Given the description of an element on the screen output the (x, y) to click on. 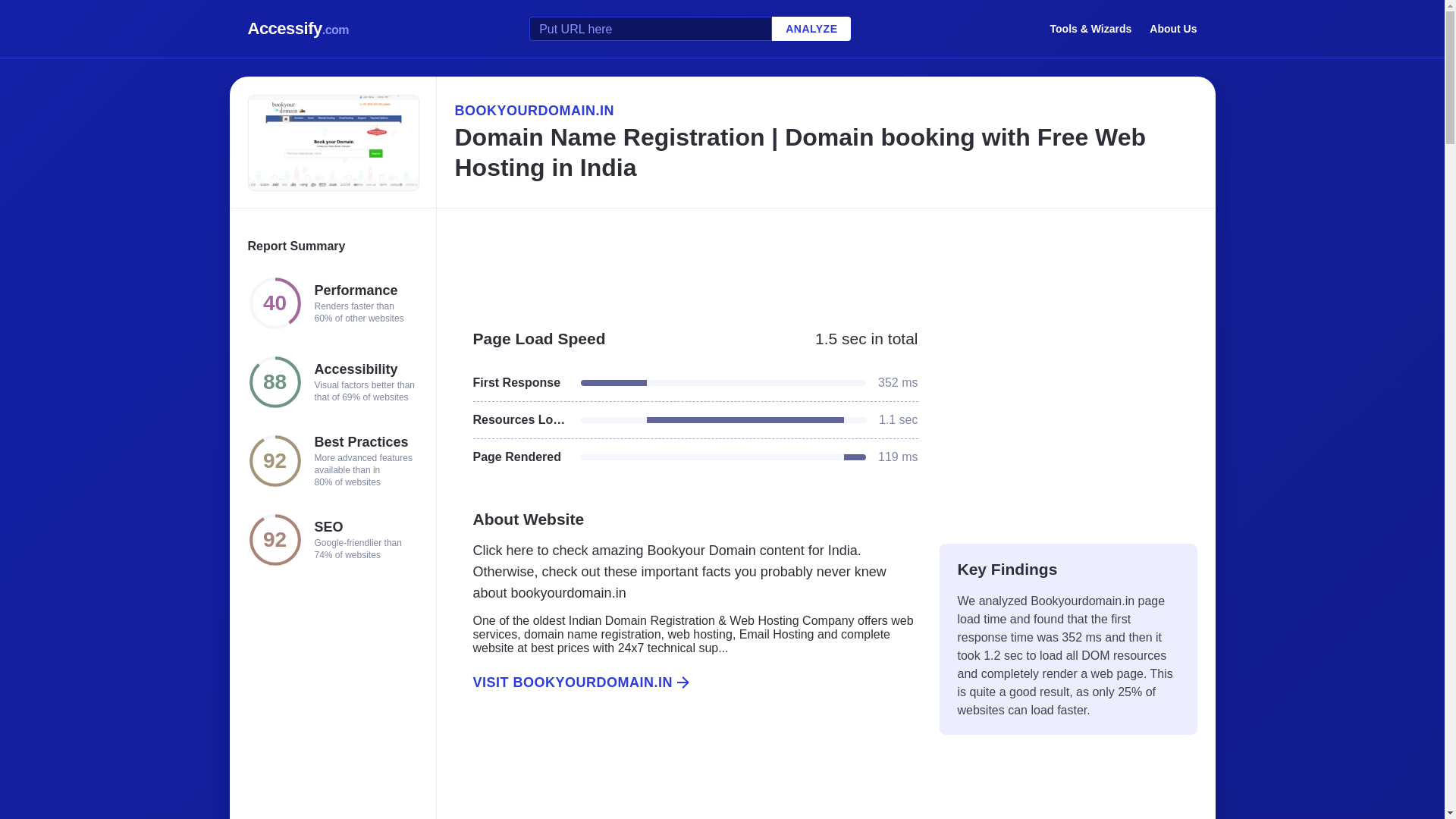
Advertisement (1067, 418)
BOOKYOURDOMAIN.IN (825, 110)
Advertisement (686, 771)
About Us (1173, 28)
Advertisement (825, 260)
ANALYZE (810, 28)
VISIT BOOKYOURDOMAIN.IN (686, 682)
Accessify.com (298, 28)
